Given the description of an element on the screen output the (x, y) to click on. 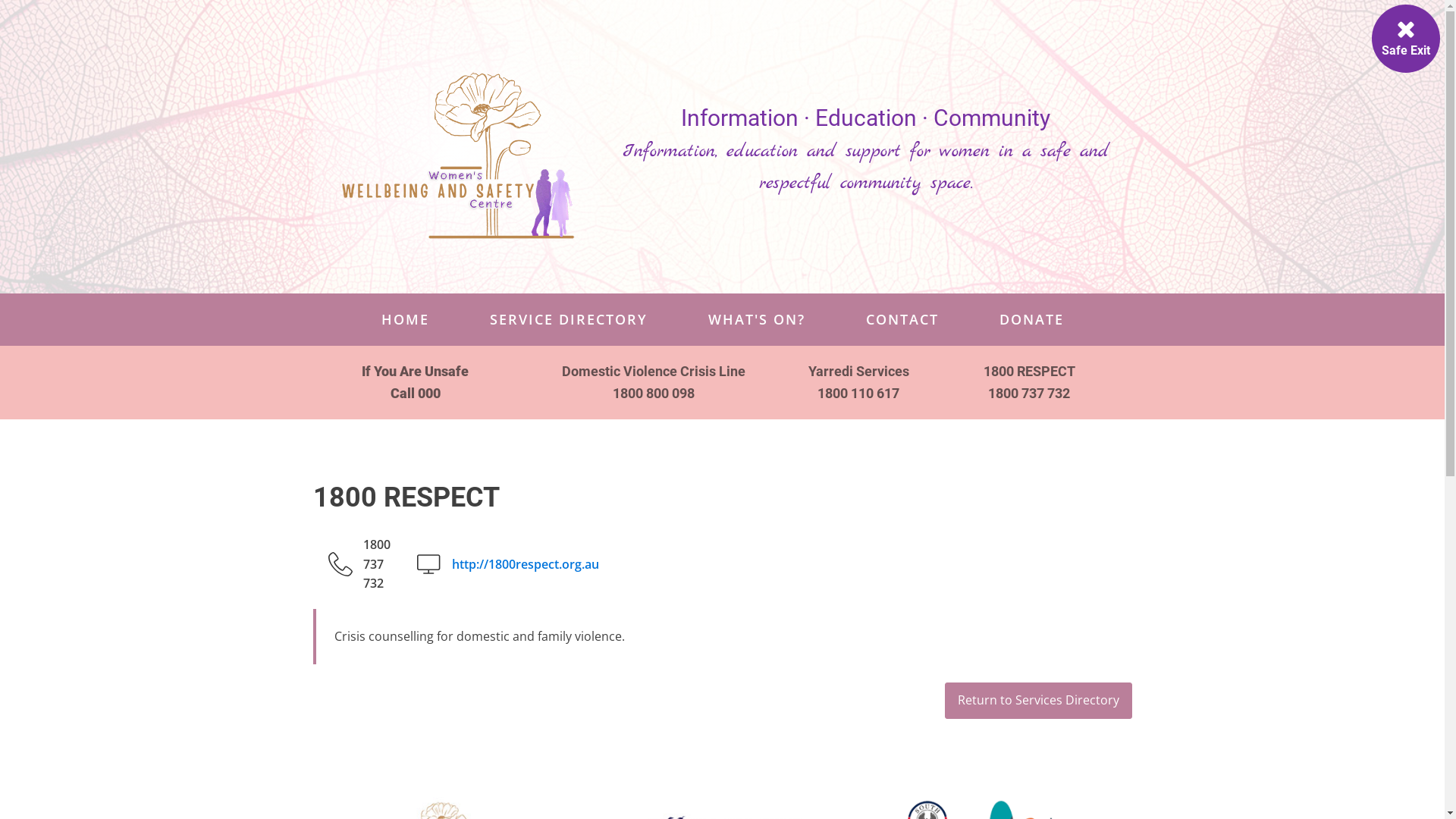
If You Are Unsafe
Call 000 Element type: text (414, 382)
Return to Services Directory Element type: text (1038, 700)
Safe Exit Element type: text (1405, 38)
CONTACT Element type: text (902, 319)
http://1800respect.org.au Element type: text (525, 564)
WHAT'S ON? Element type: text (756, 319)
DONATE Element type: text (1031, 319)
1800 RESPECT
1800 737 732 Element type: text (1029, 382)
Domestic Violence Crisis Line
1800 800 098 Element type: text (653, 382)
SERVICE DIRECTORY Element type: text (568, 319)
HOME Element type: text (404, 319)
Yarredi Services
1800 110 617 Element type: text (858, 382)
